Given the description of an element on the screen output the (x, y) to click on. 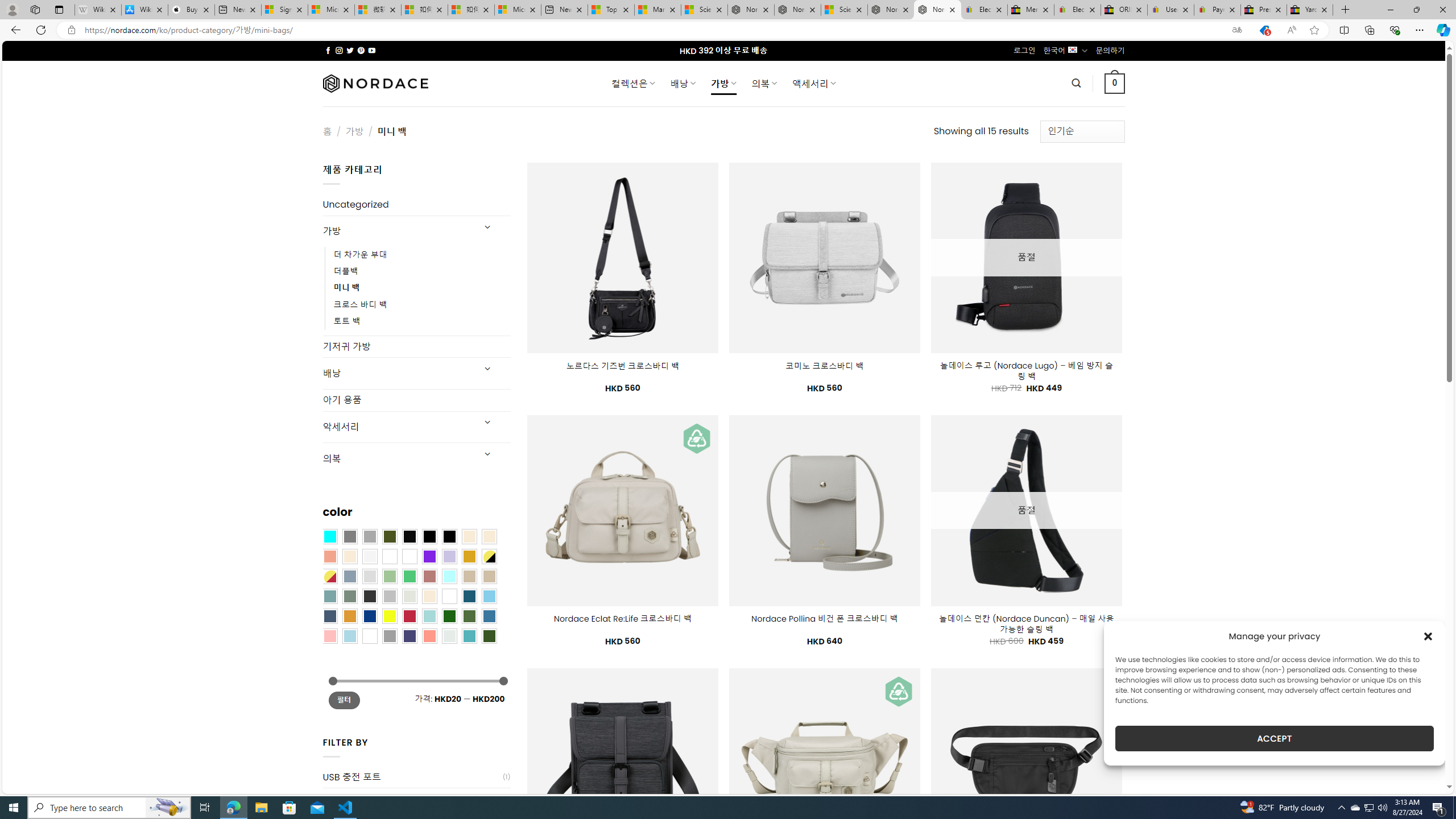
Coral (329, 555)
Press Room - eBay Inc. (1263, 9)
User Privacy Notice | eBay (1170, 9)
